Given the description of an element on the screen output the (x, y) to click on. 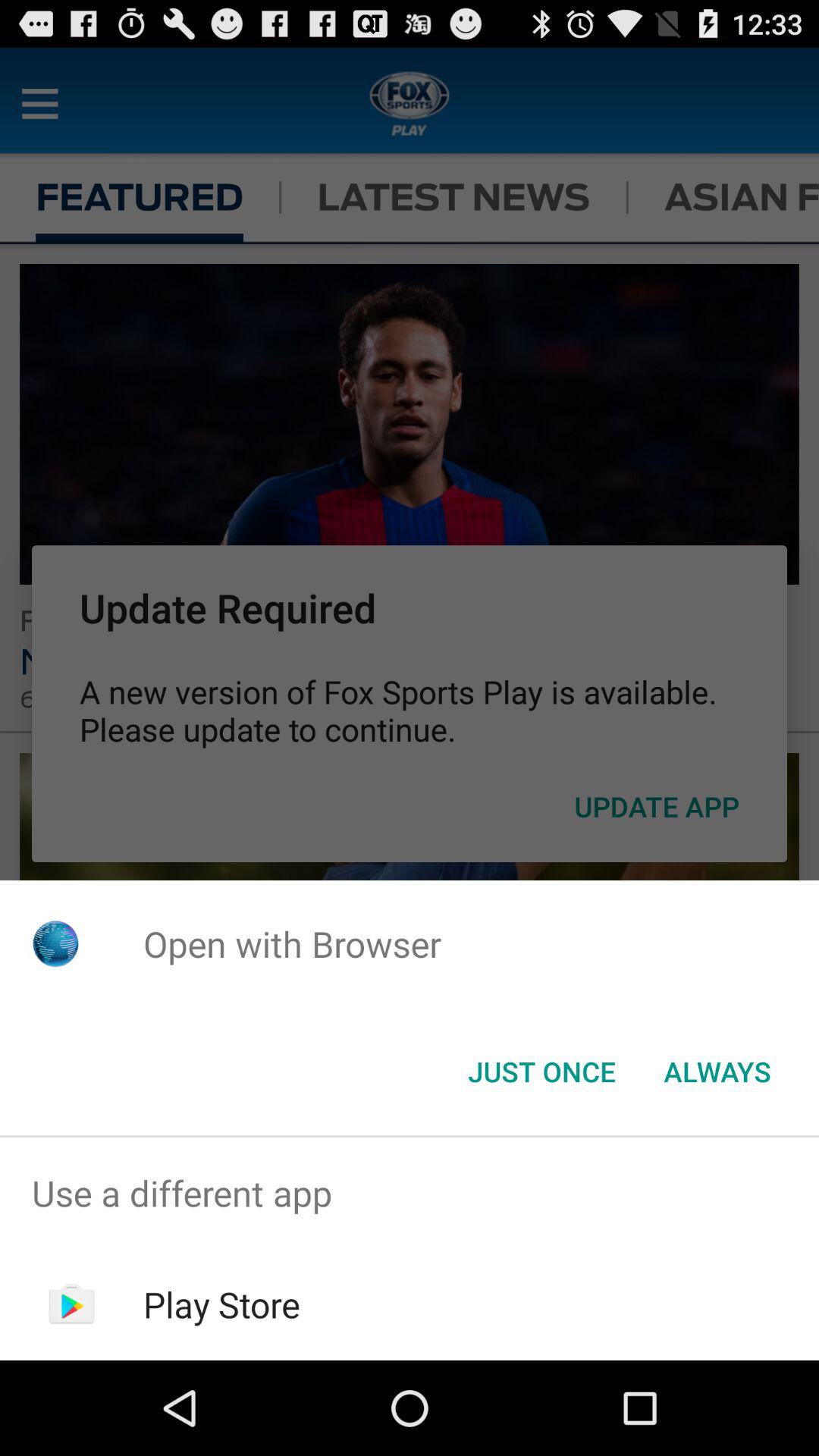
launch item to the left of the always (541, 1071)
